Given the description of an element on the screen output the (x, y) to click on. 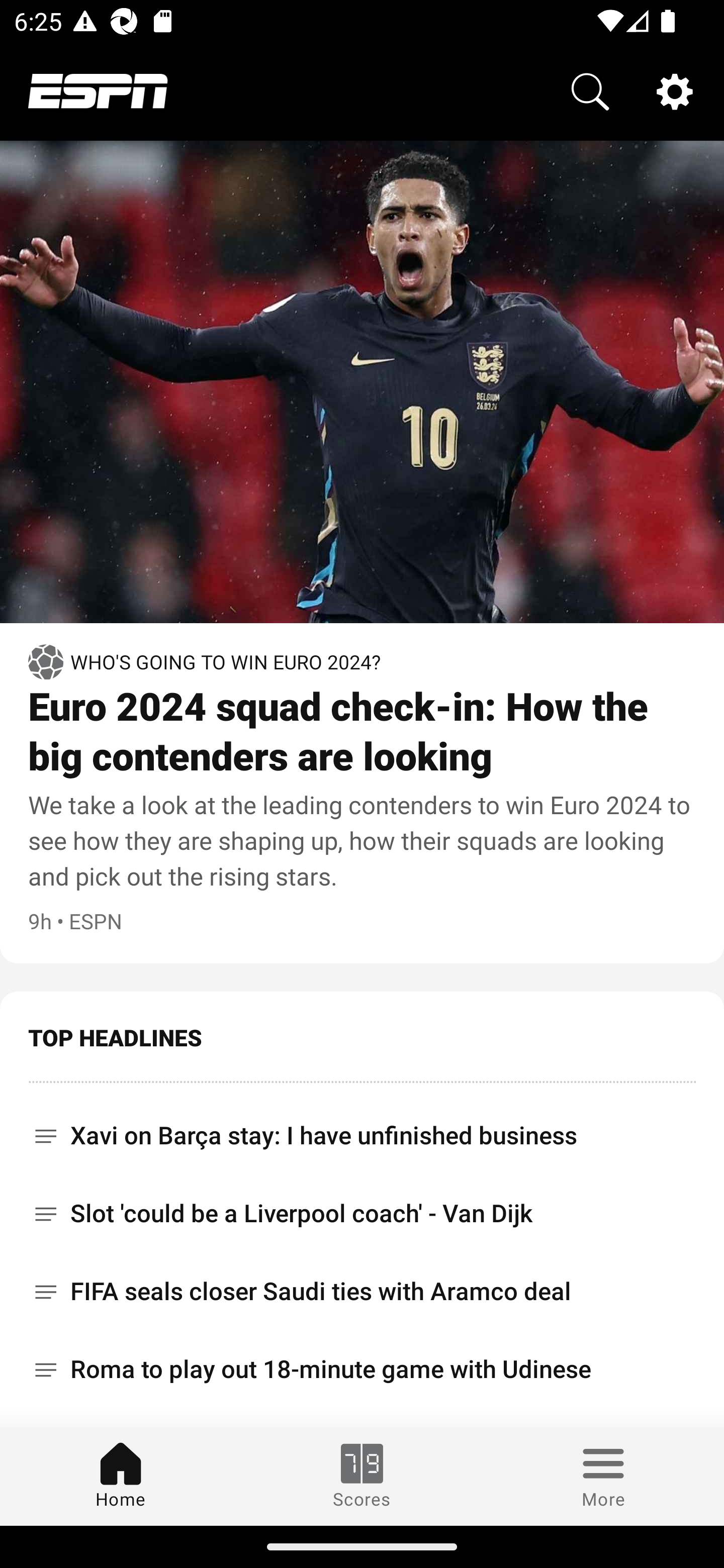
Search (590, 90)
Settings (674, 90)
 Xavi on Barça stay: I have unfinished business (362, 1128)
 Slot 'could be a Liverpool coach' - Van Dijk (362, 1213)
 FIFA seals closer Saudi ties with Aramco deal (362, 1291)
 Roma to play out 18-minute game with Udinese (362, 1369)
Scores (361, 1475)
More (603, 1475)
